Given the description of an element on the screen output the (x, y) to click on. 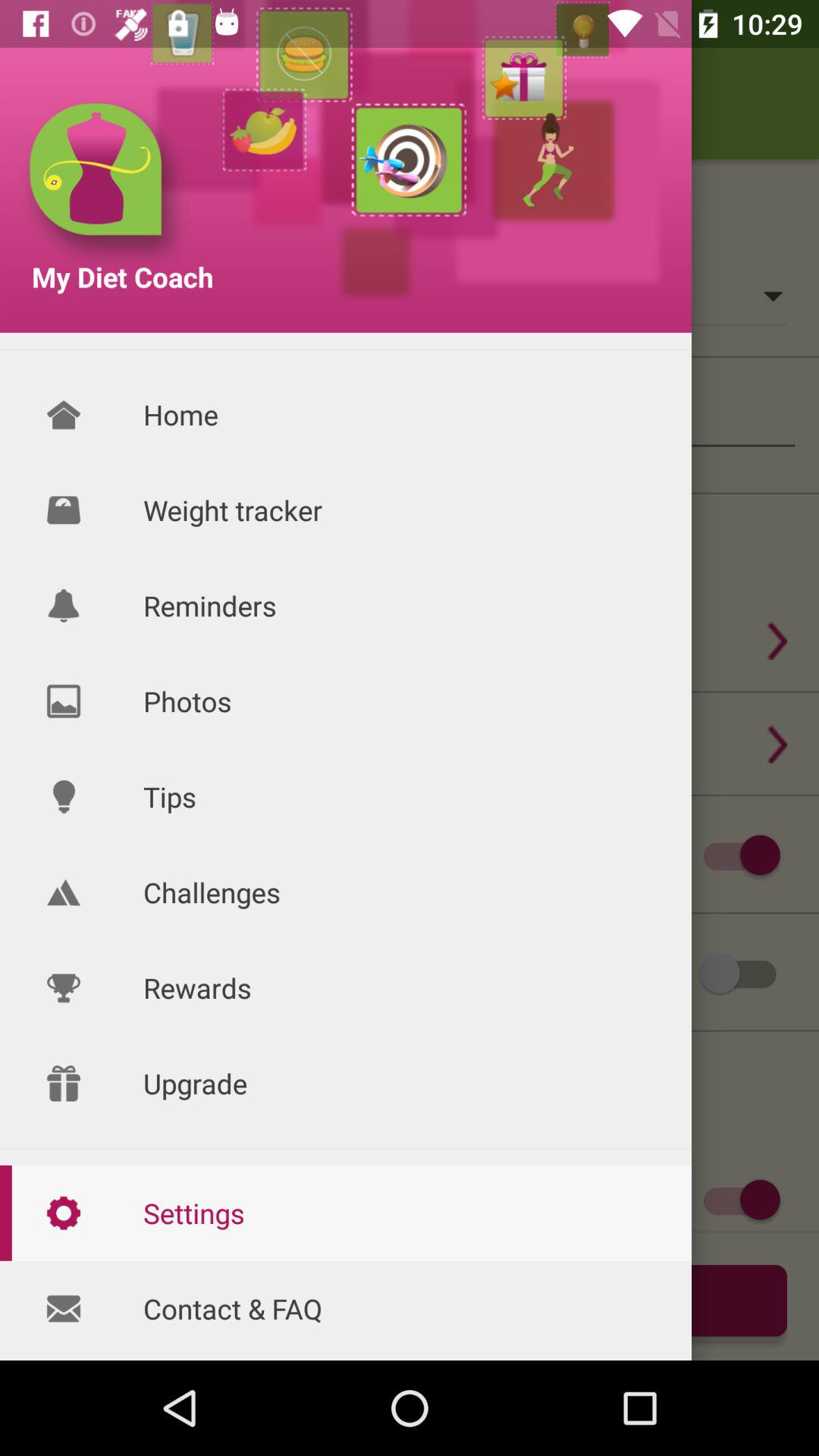
select the message icon (63, 1308)
click on settings icon (63, 1212)
click on reminder icon (63, 605)
select the second arrow icon (777, 743)
select the icon to the left of tips (63, 796)
click on the bulb option which says tips (63, 796)
select the first icon which is left to the fruits icon (104, 184)
